Given the description of an element on the screen output the (x, y) to click on. 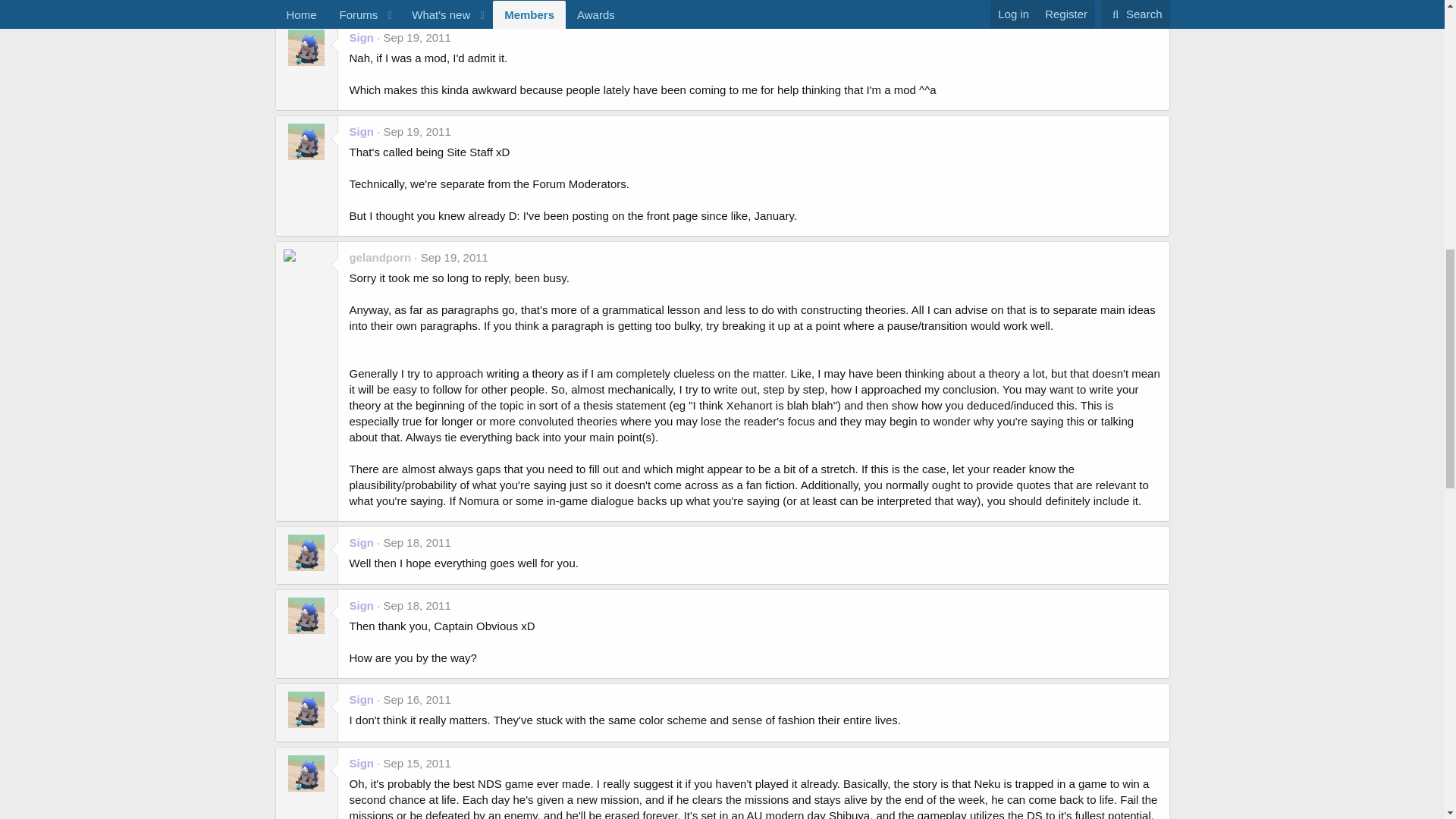
Sep 18, 2011 at 1:00 AM (417, 604)
Sep 19, 2011 at 9:56 PM (417, 37)
Sep 18, 2011 at 2:36 AM (417, 542)
Sep 15, 2011 at 7:20 PM (417, 762)
Sep 19, 2011 at 9:48 PM (417, 131)
Sep 16, 2011 at 7:21 PM (417, 698)
Sep 19, 2011 at 2:56 PM (453, 256)
